Given the description of an element on the screen output the (x, y) to click on. 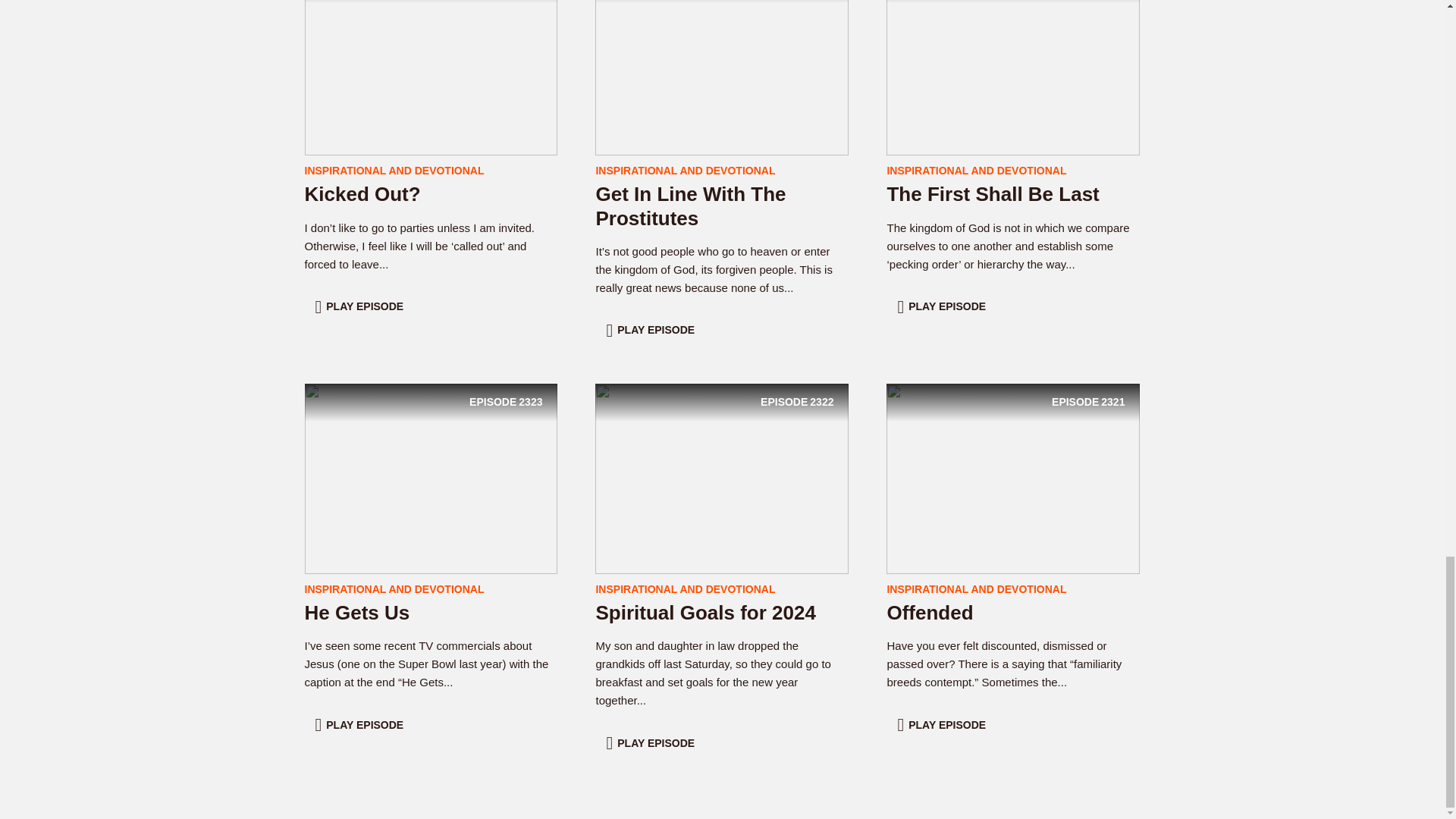
Kicked Out? (721, 59)
INSPIRATIONAL AND DEVOTIONAL (362, 193)
INSPIRATIONAL AND DEVOTIONAL (394, 589)
Spiritual Goals for 2024 (430, 59)
INSPIRATIONAL AND DEVOTIONAL (430, 477)
PLAY EPISODE (1013, 477)
INSPIRATIONAL AND DEVOTIONAL (684, 170)
He Gets Us (705, 612)
Get In Line With The Prostitutes (975, 170)
PLAY EPISODE (361, 725)
